Given the description of an element on the screen output the (x, y) to click on. 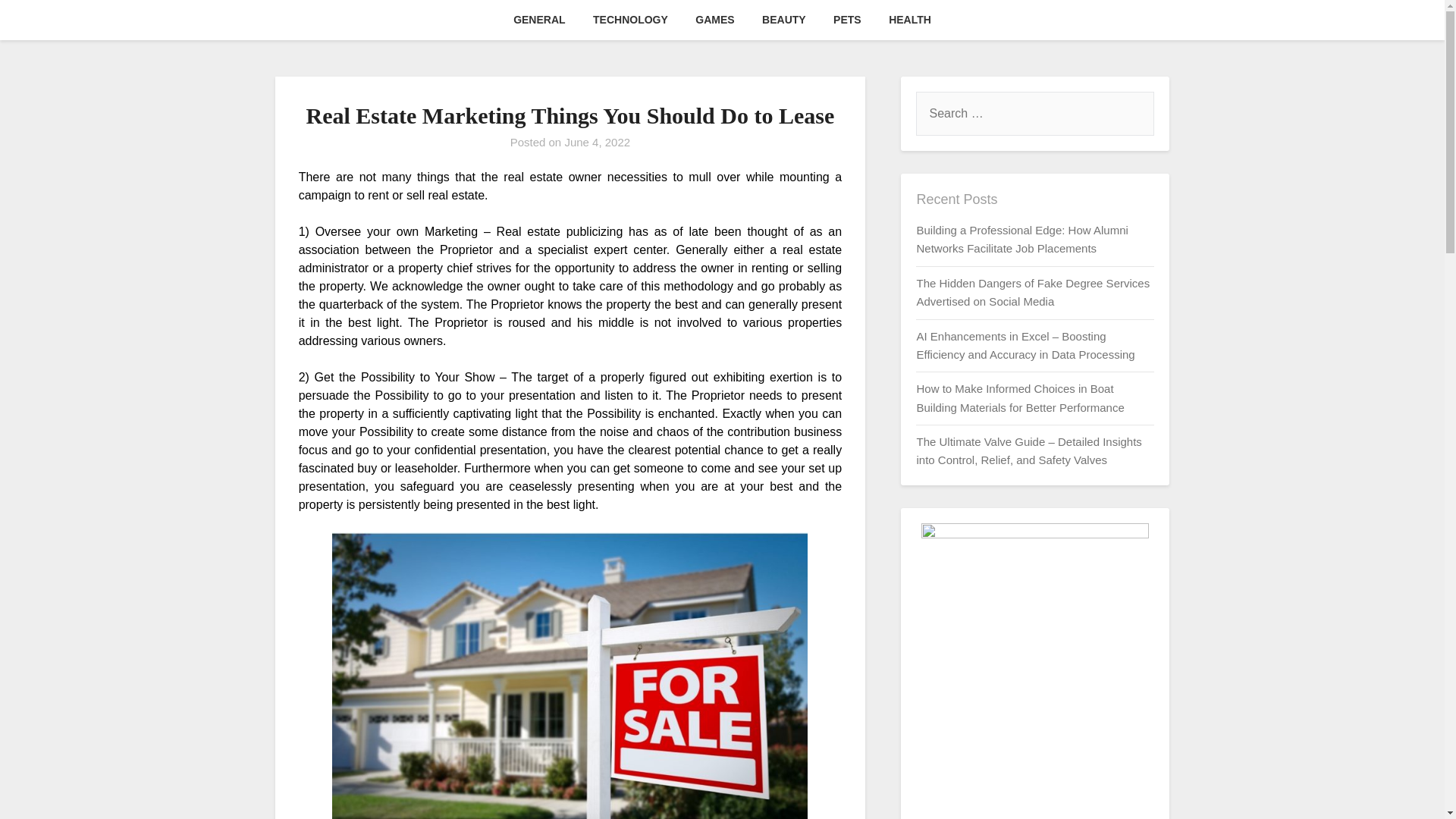
GENERAL (538, 20)
Search (37, 22)
BEAUTY (783, 20)
TECHNOLOGY (629, 20)
HEALTH (909, 20)
PETS (847, 20)
June 4, 2022 (597, 141)
